Given the description of an element on the screen output the (x, y) to click on. 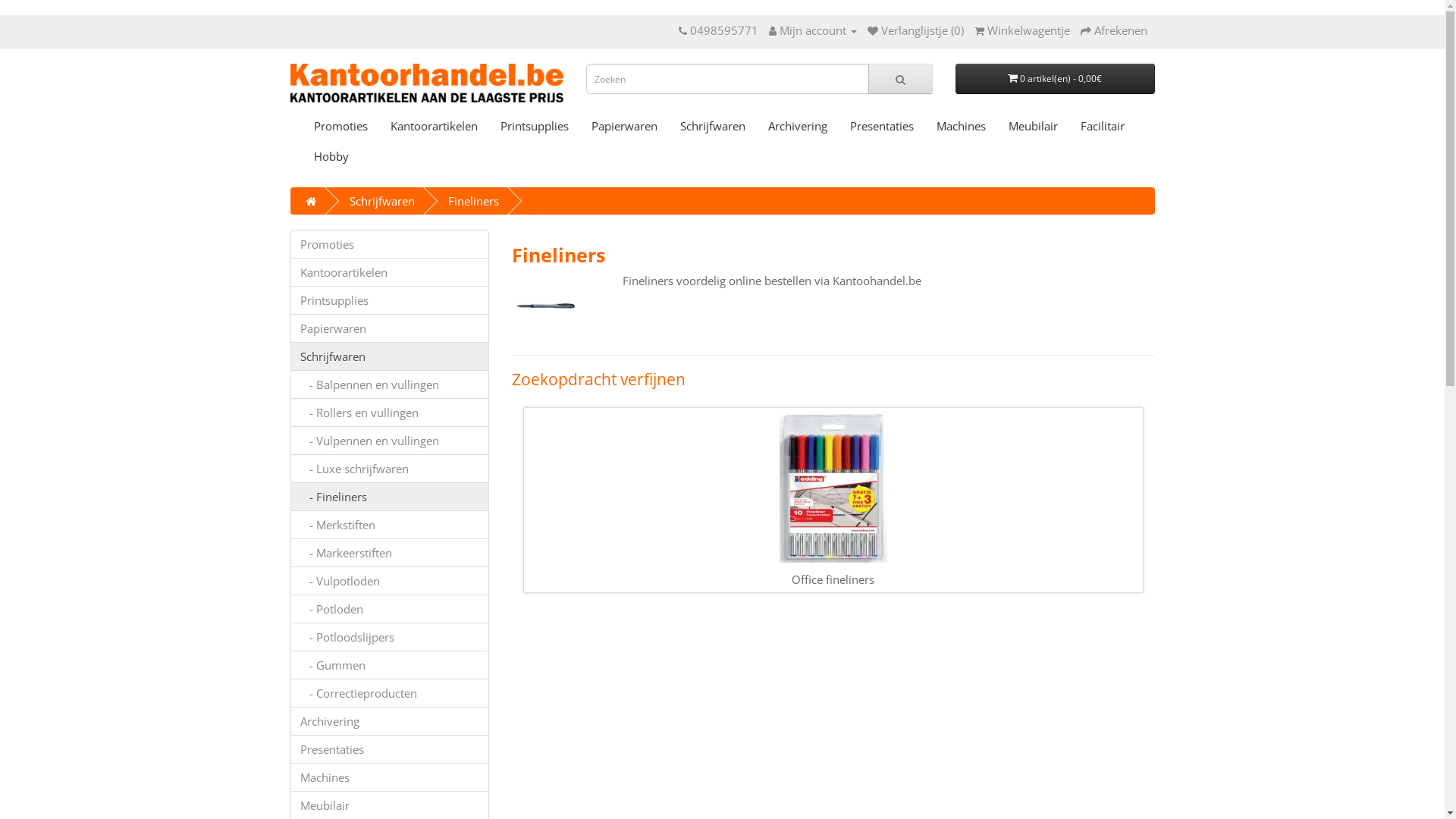
Hobby Element type: text (330, 156)
   - Balpennen en vullingen Element type: text (389, 384)
Office fineliners Element type: hover (833, 486)
Printsupplies Element type: text (533, 125)
Office fineliners Element type: text (833, 500)
Fineliners Element type: hover (544, 306)
Presentaties Element type: text (389, 748)
Archivering Element type: text (797, 125)
Archivering Element type: text (389, 720)
   - Vulpotloden Element type: text (389, 580)
   - Merkstiften Element type: text (389, 524)
   - Markeerstiften Element type: text (389, 552)
Papierwaren Element type: text (623, 125)
Kantoorartikelen Element type: text (389, 271)
   - Gummen Element type: text (389, 664)
   - Luxe schrijfwaren Element type: text (389, 468)
Schrijfwaren Element type: text (389, 356)
Schrijfwaren Element type: text (712, 125)
   - Potloodslijpers Element type: text (389, 636)
Machines Element type: text (389, 776)
   - Rollers en vullingen Element type: text (389, 412)
Winkelwagentje Element type: text (1021, 29)
Machines Element type: text (961, 125)
   - Potloden Element type: text (389, 608)
Meubilair Element type: text (1032, 125)
Mijn account Element type: text (812, 29)
Kantoorartikelen Element type: text (434, 125)
Promoties Element type: text (389, 243)
Schrijfwaren Element type: text (381, 200)
Facilitair Element type: text (1102, 125)
Presentaties Element type: text (881, 125)
Promoties Element type: text (339, 125)
Printsupplies Element type: text (389, 299)
Afrekenen Element type: text (1112, 29)
   - Correctieproducten Element type: text (389, 692)
Verlanglijstje (0) Element type: text (915, 29)
Fineliners Element type: text (472, 200)
   - Fineliners Element type: text (389, 496)
Papierwaren Element type: text (389, 327)
   - Vulpennen en vullingen Element type: text (389, 440)
